Given the description of an element on the screen output the (x, y) to click on. 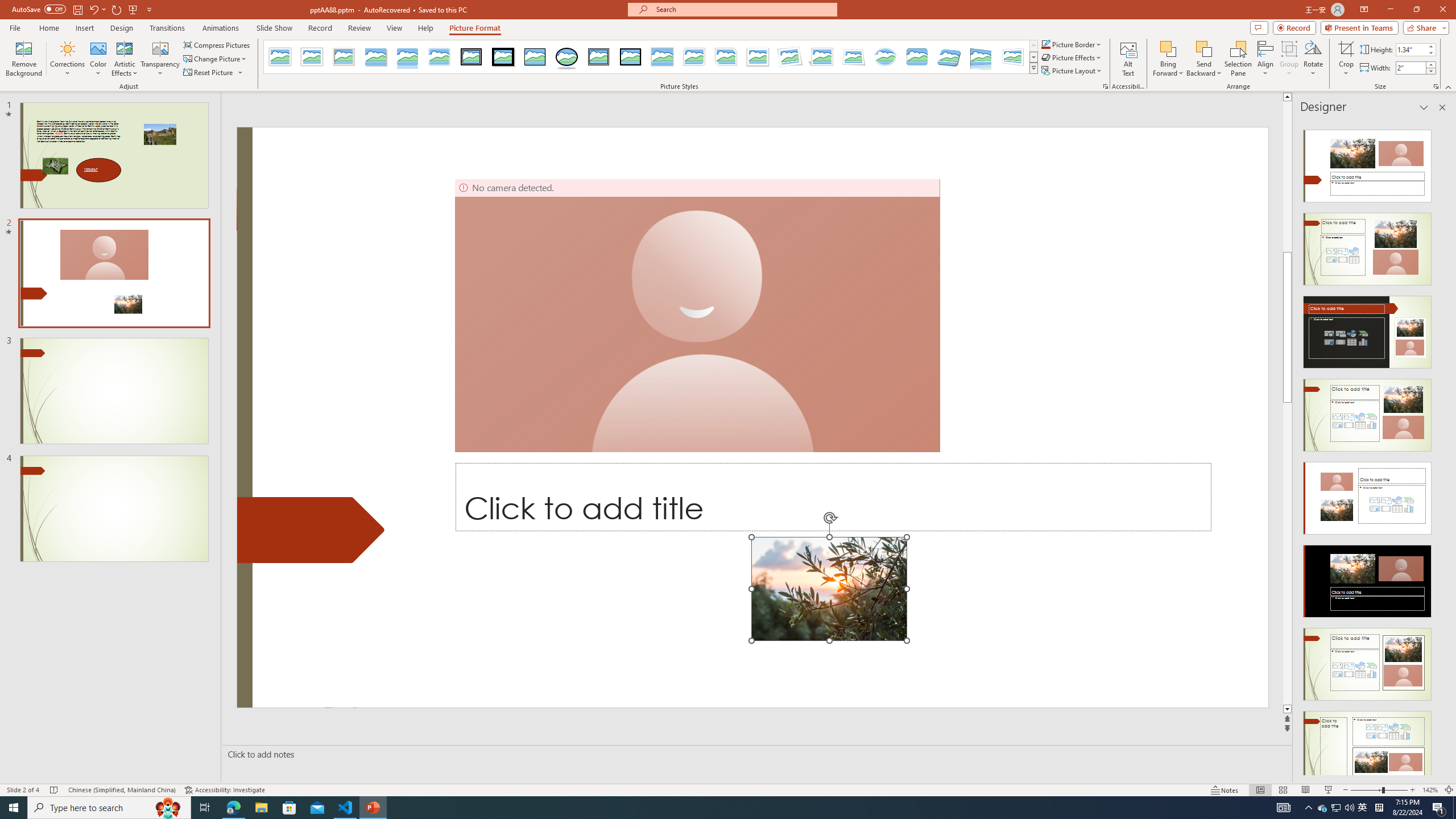
Reflected Perspective Right (981, 56)
Crop (1345, 58)
Page down (1450, 553)
